Given the description of an element on the screen output the (x, y) to click on. 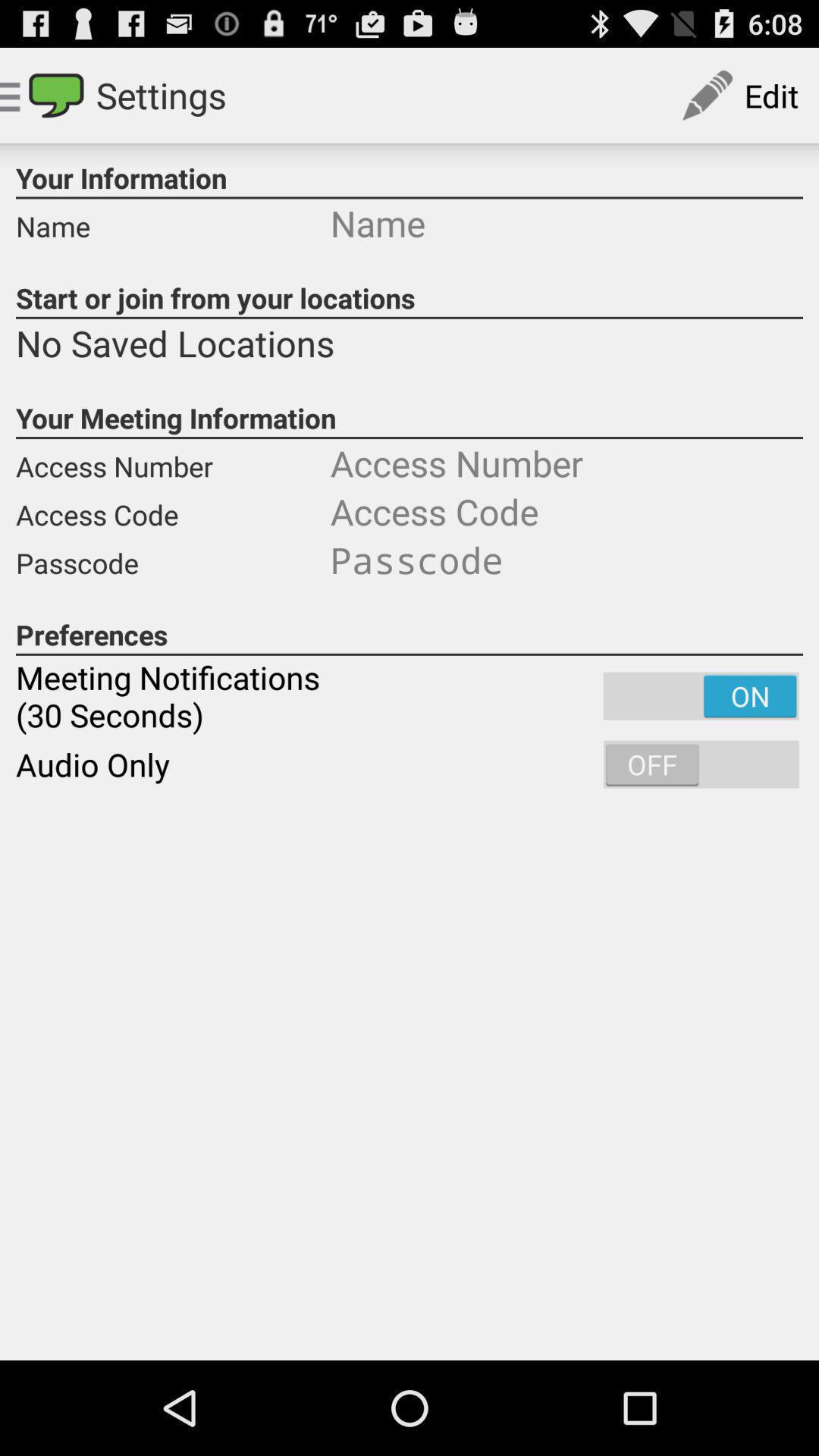
press item next to the access code item (566, 559)
